Given the description of an element on the screen output the (x, y) to click on. 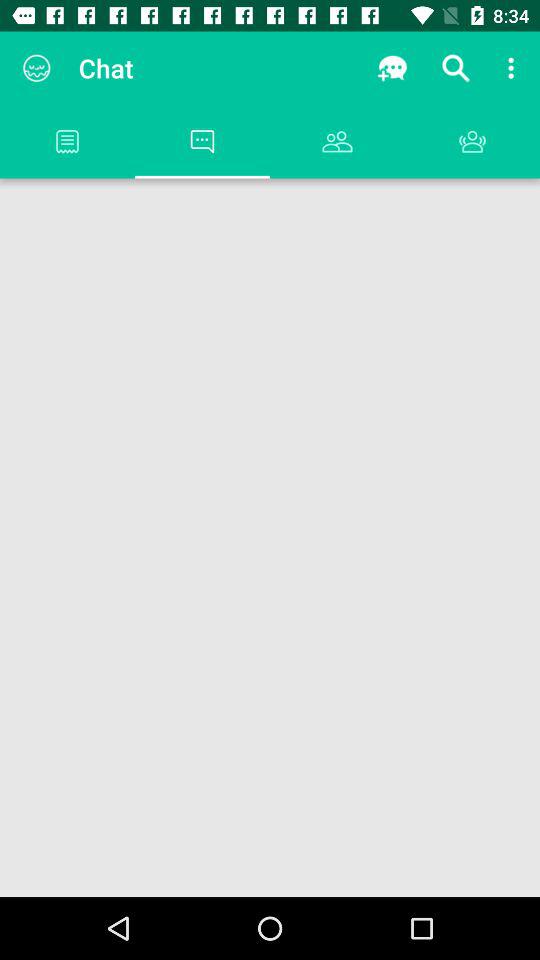
click app next to the chat icon (392, 67)
